Given the description of an element on the screen output the (x, y) to click on. 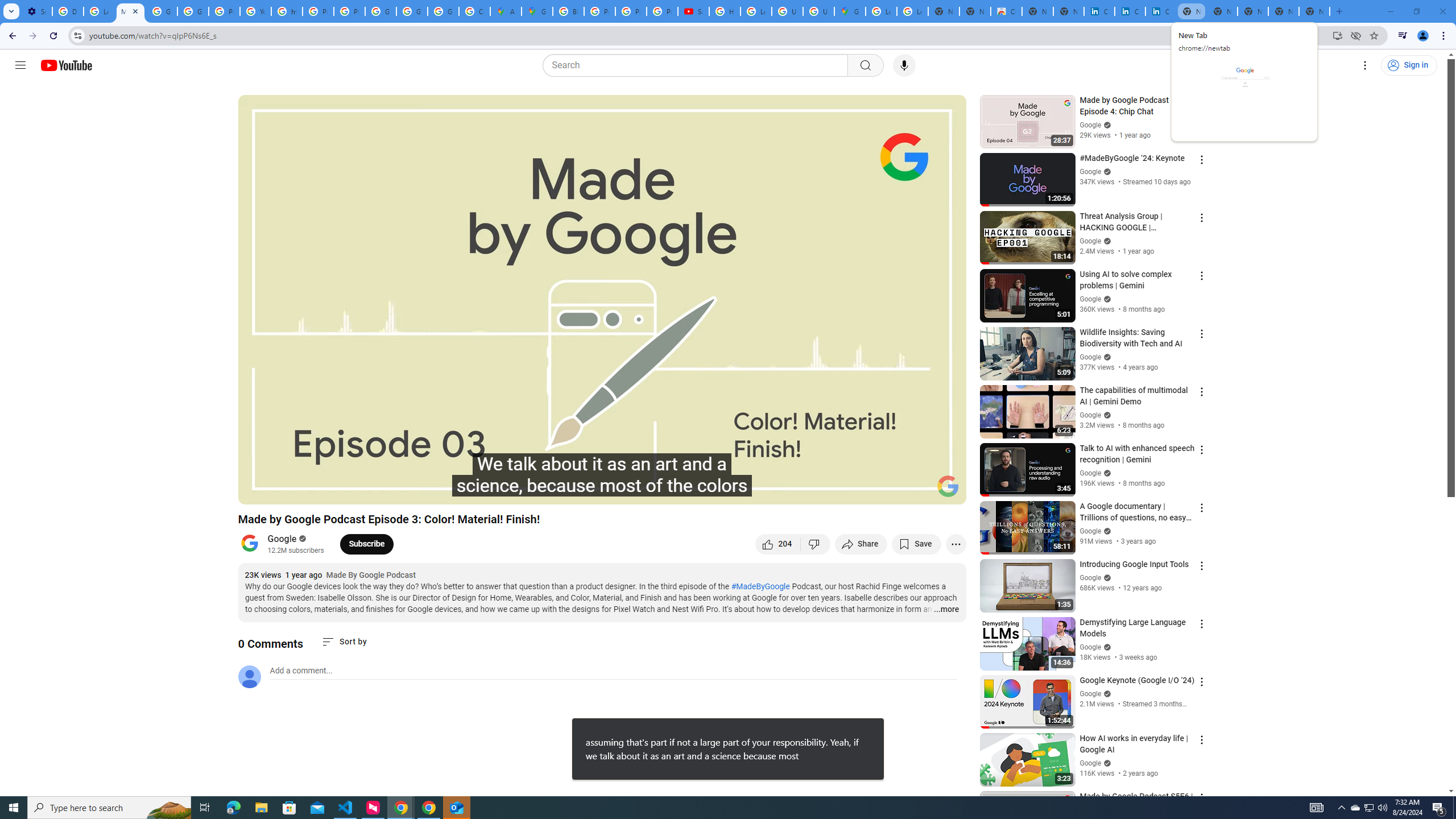
Subscribe to Google. (366, 543)
YouTube (255, 11)
Google Account Help (192, 11)
Q2790: 100% (1382, 807)
Mute (m) (312, 490)
User Promoted Notification Area (1368, 807)
Cookie Policy | LinkedIn (1098, 11)
Theater mode (t) (917, 490)
Learn how to find your photos - Google Photos Help (98, 11)
Autoplay is on (808, 490)
Privacy Help Center - Policies Help (631, 11)
